Given the description of an element on the screen output the (x, y) to click on. 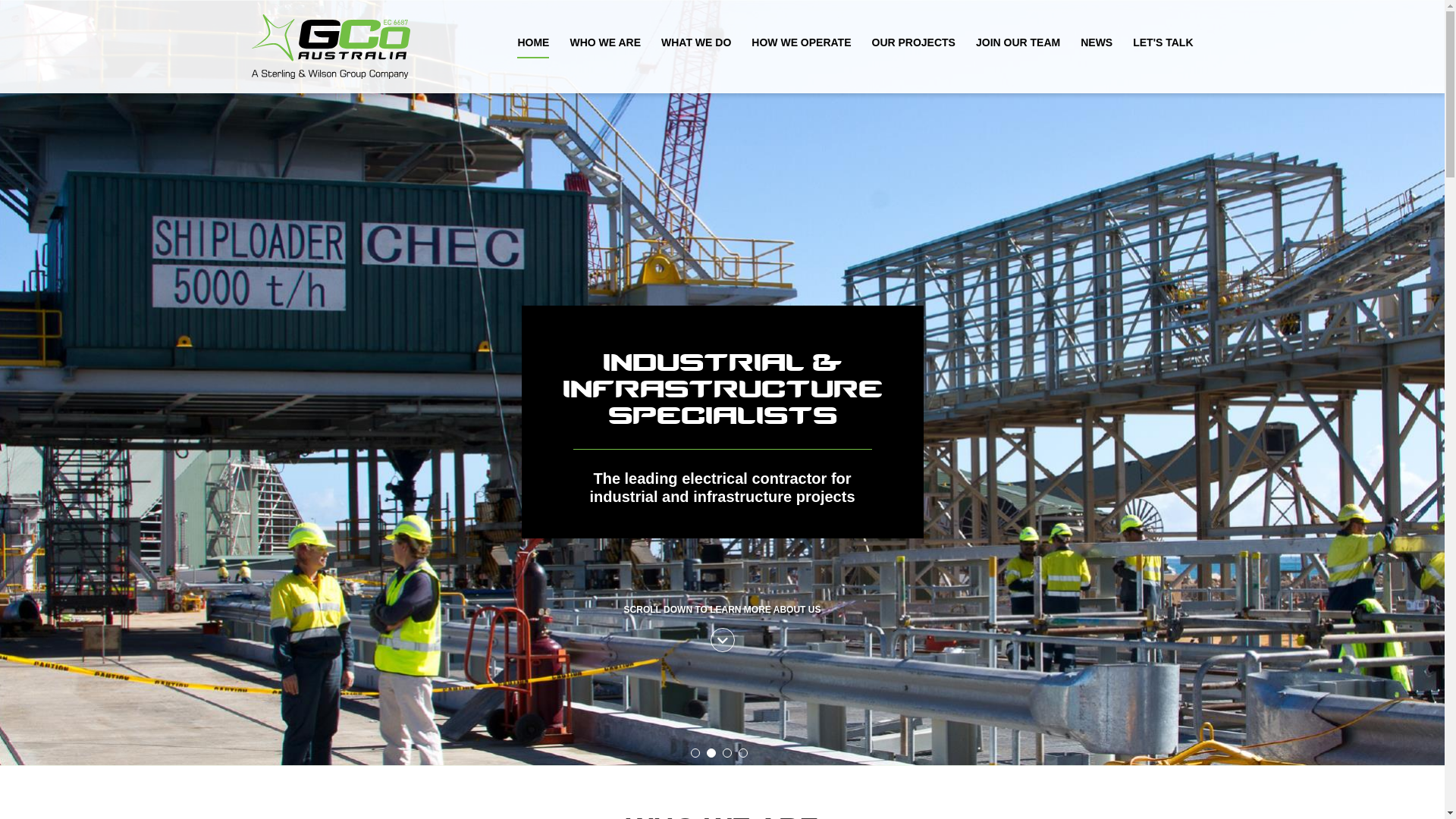
JOIN OUR TEAM Element type: text (1017, 43)
LET'S TALK Element type: text (1162, 43)
OUR PROJECTS Element type: text (913, 43)
WHO WE ARE Element type: text (604, 43)
WHAT WE DO Element type: text (696, 43)
HOME Element type: text (533, 43)
GCo Electrical Home Page Element type: hover (360, 46)
HOW WE OPERATE Element type: text (800, 43)
NEWS Element type: text (1096, 43)
